Given the description of an element on the screen output the (x, y) to click on. 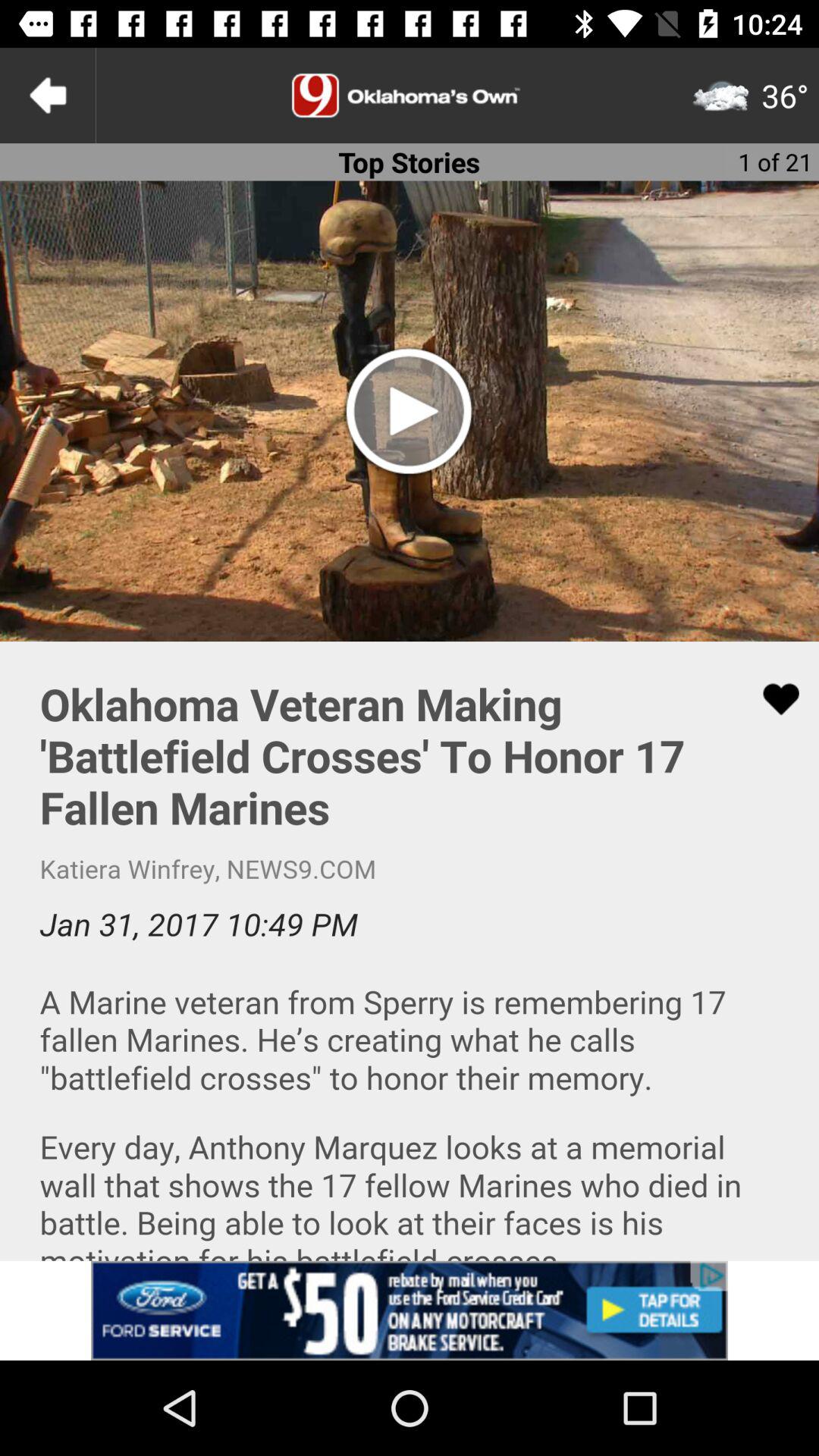
like love (771, 699)
